Given the description of an element on the screen output the (x, y) to click on. 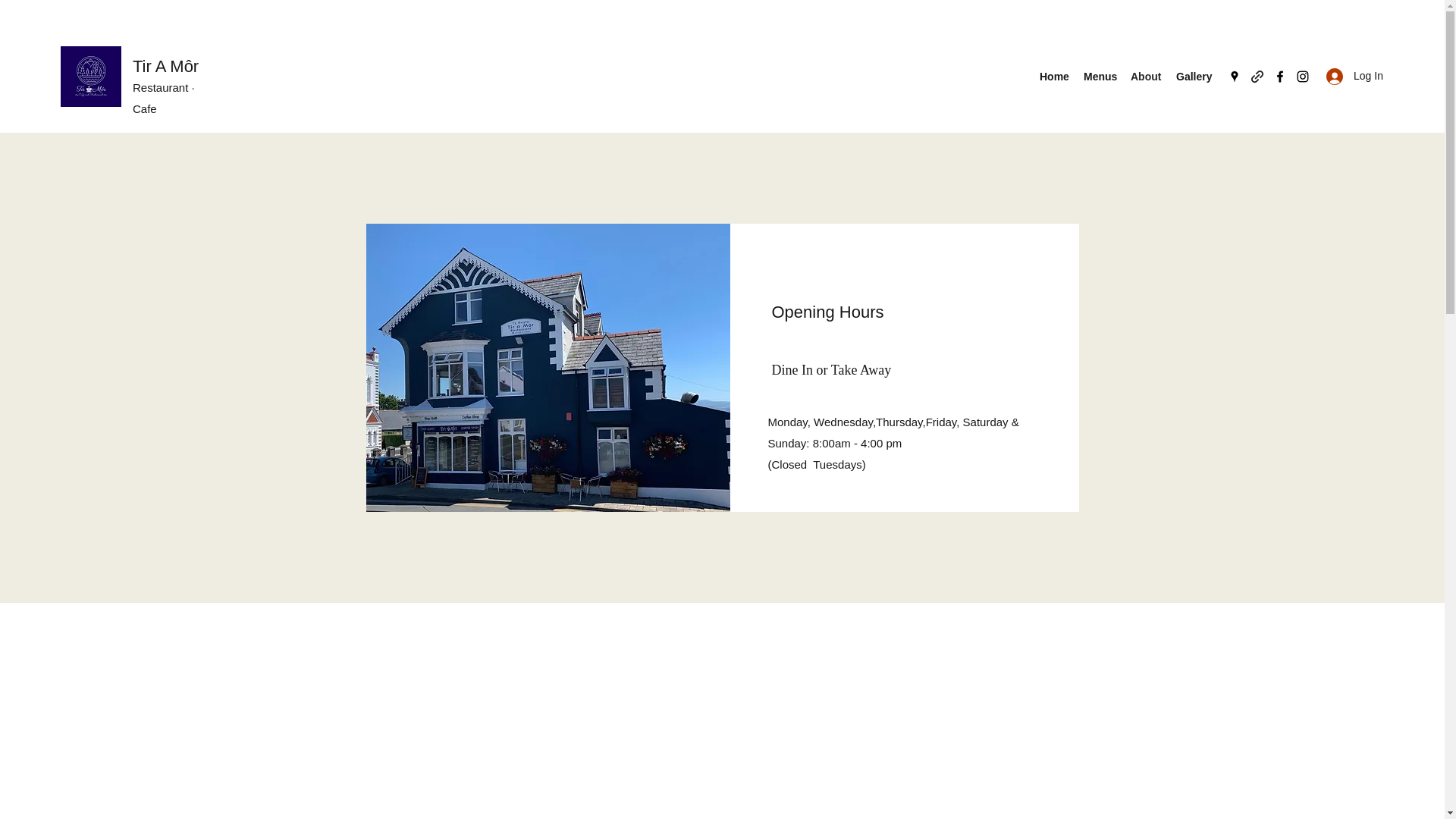
Log In (1350, 76)
Gallery (1192, 76)
Home (1053, 76)
Menus (1098, 76)
About (1145, 76)
